Given the description of an element on the screen output the (x, y) to click on. 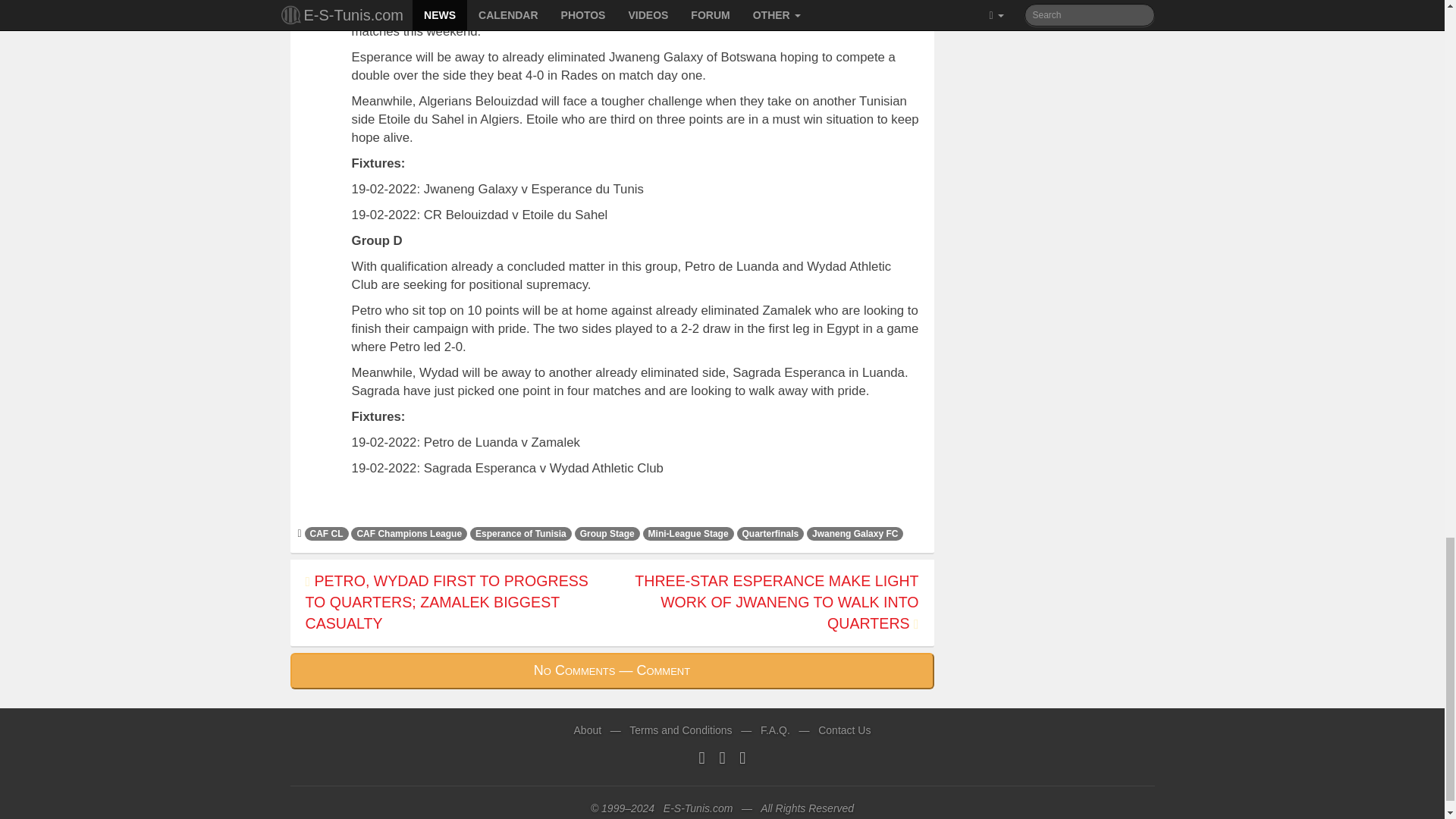
Mini-League Stage (688, 532)
Jwaneng Galaxy FC (854, 532)
Esperance of Tunisia (521, 532)
Quarterfinals (770, 532)
CAF CL (326, 532)
CAF Champions League (408, 532)
Group Stage (607, 532)
